Given the description of an element on the screen output the (x, y) to click on. 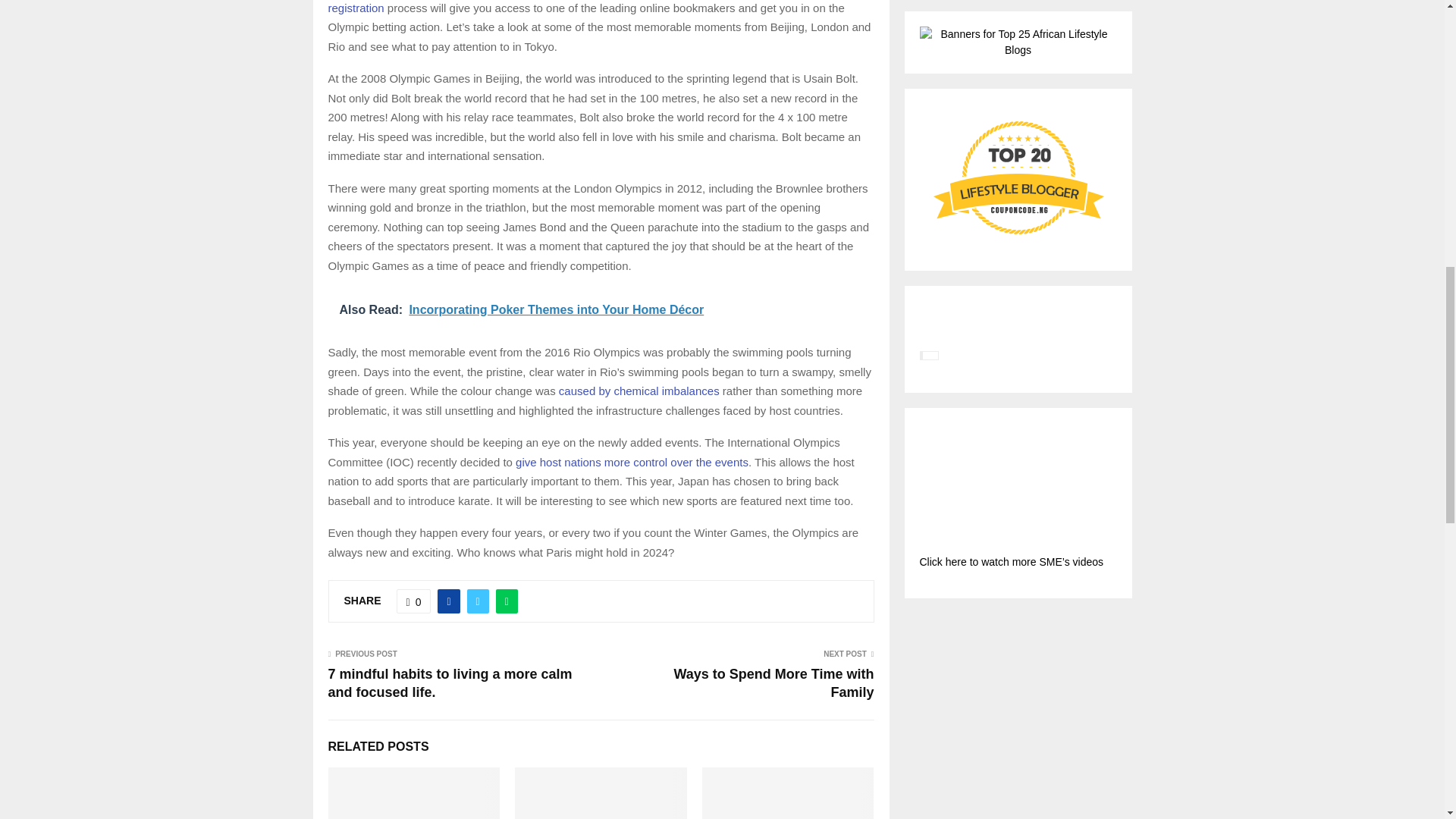
0 (413, 600)
give host nations more control over the events (631, 461)
Betway registration (582, 7)
caused by chemical imbalances (639, 390)
Like (413, 600)
